Given the description of an element on the screen output the (x, y) to click on. 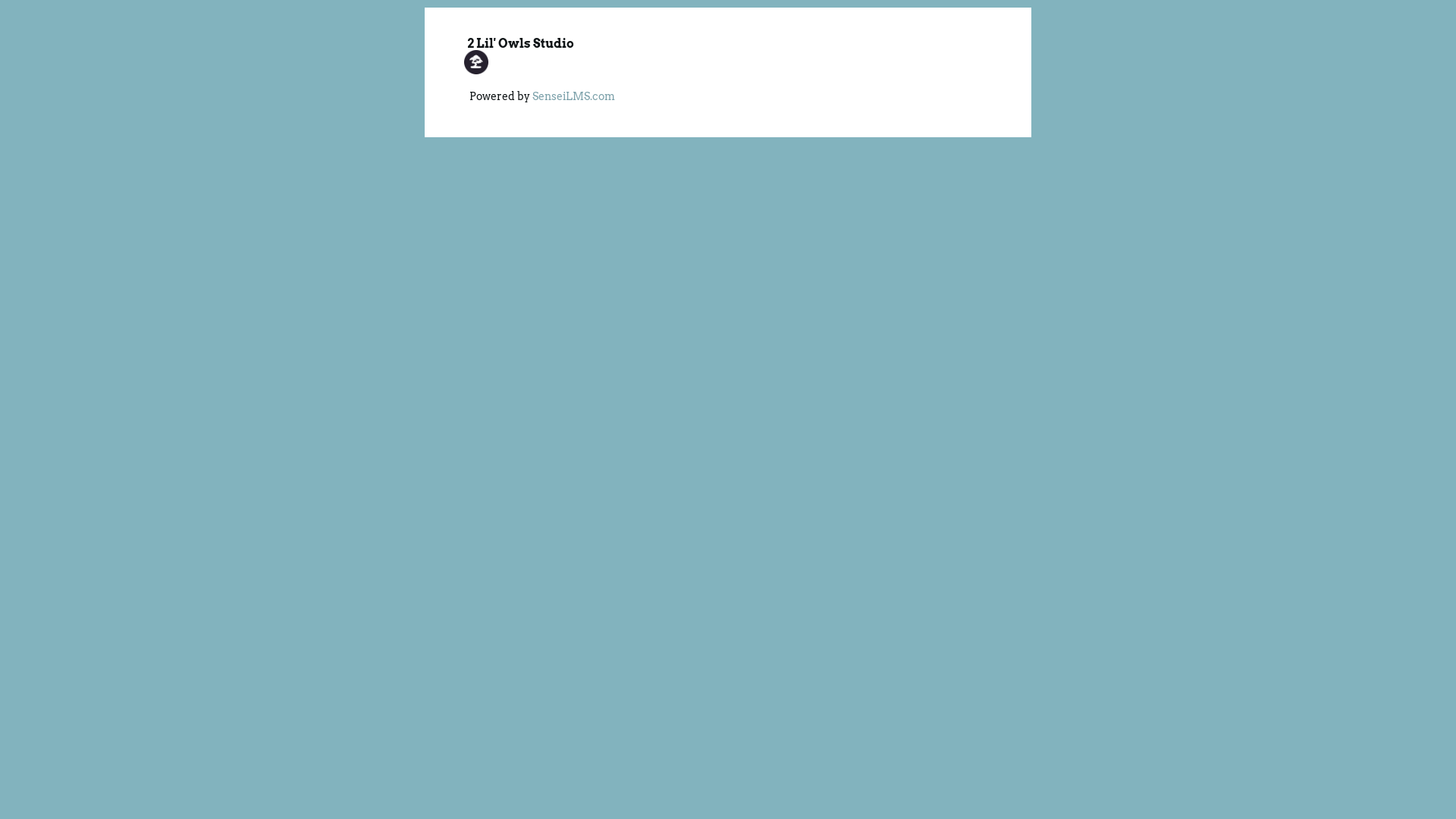
SenseiLMS.com Element type: text (573, 96)
